Given the description of an element on the screen output the (x, y) to click on. 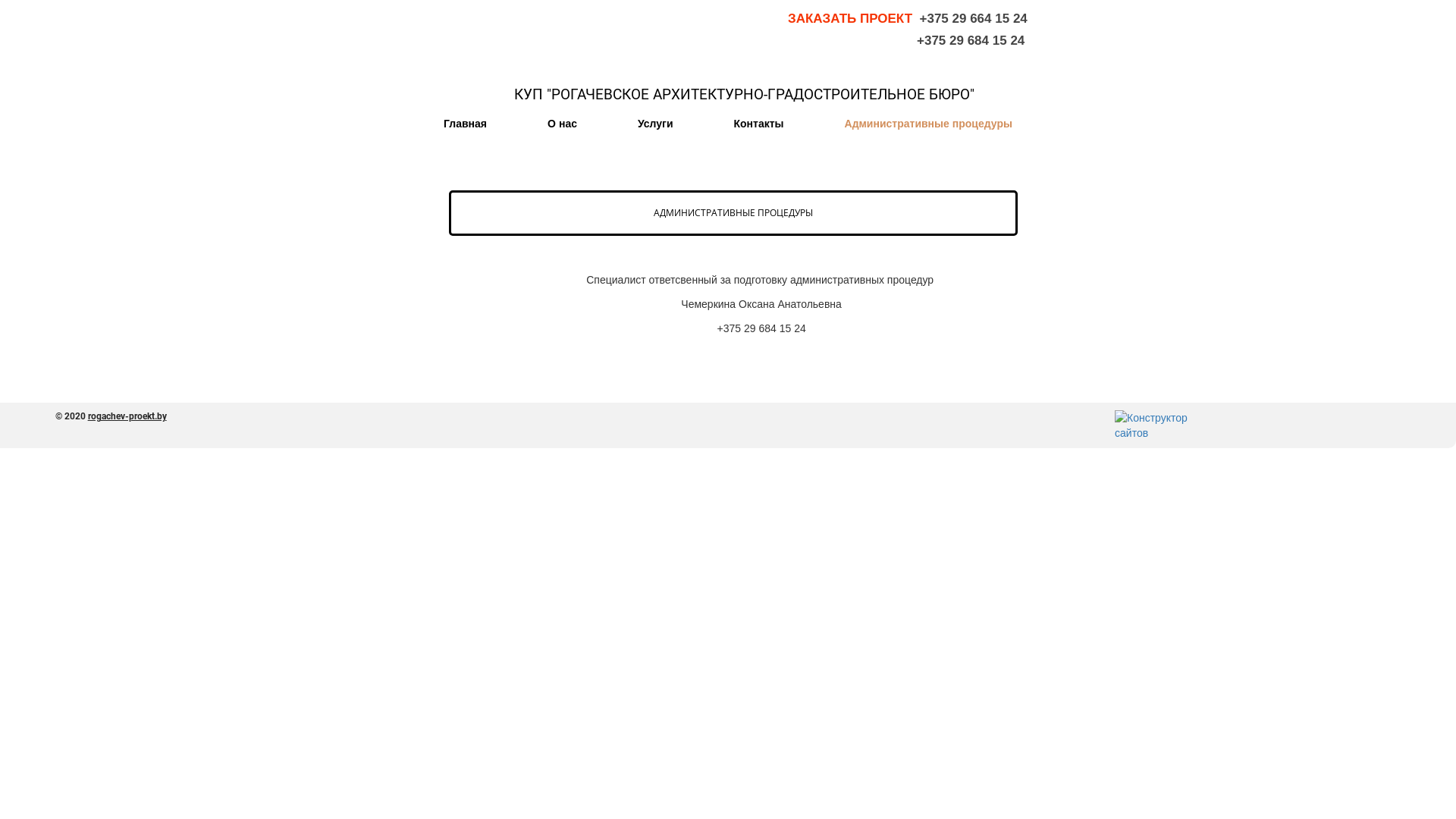
rogachev-proekt.by Element type: text (126, 416)
